Given the description of an element on the screen output the (x, y) to click on. 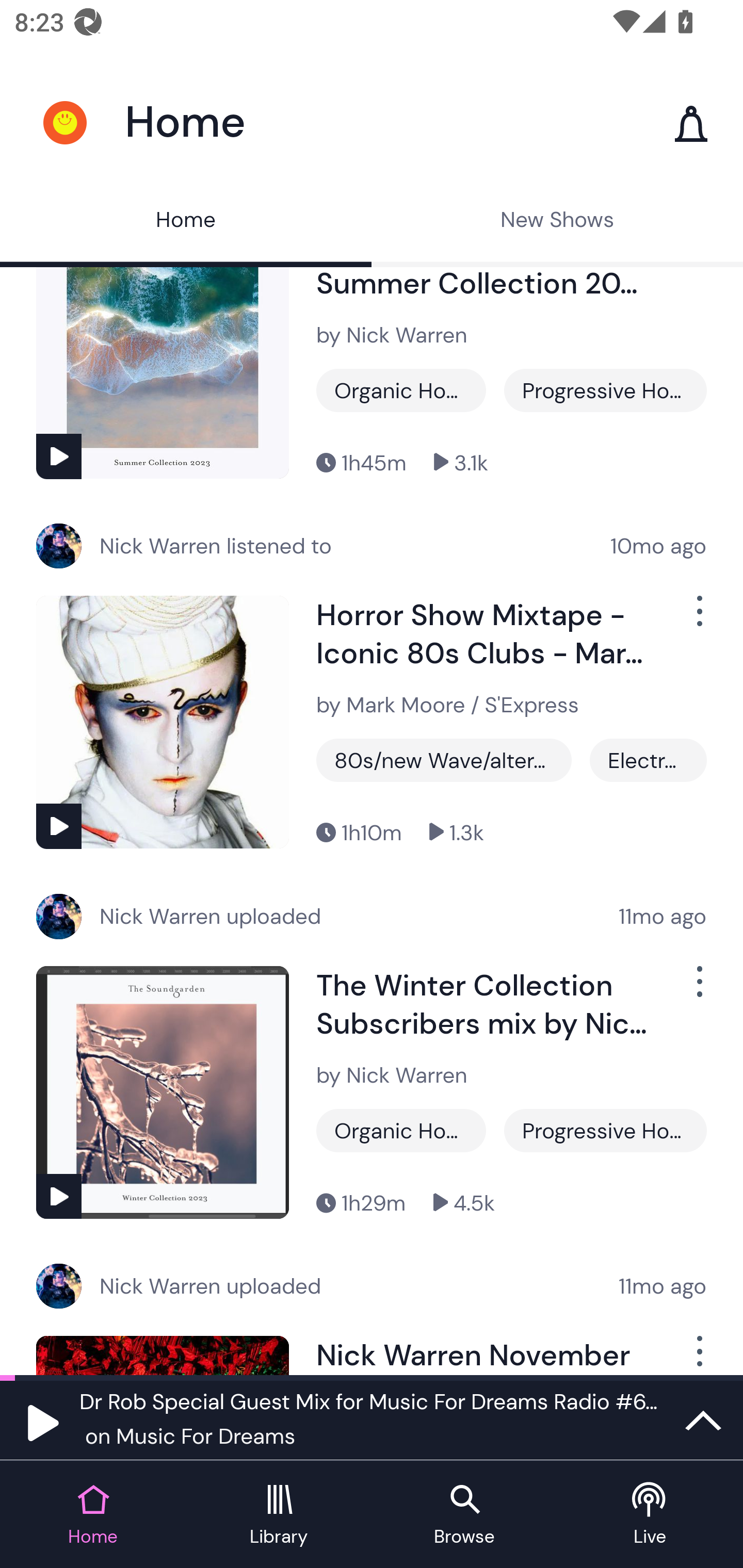
Home (185, 221)
New Shows (557, 221)
Organic House (400, 390)
Progressive House (604, 390)
Show Options Menu Button (697, 618)
80s/new Wave/alternative (443, 760)
Electronic (647, 760)
Show Options Menu Button (697, 988)
Organic House (400, 1130)
Progressive House (604, 1130)
Show Options Menu Button (697, 1355)
Home tab Home (92, 1515)
Library tab Library (278, 1515)
Browse tab Browse (464, 1515)
Live tab Live (650, 1515)
